Given the description of an element on the screen output the (x, y) to click on. 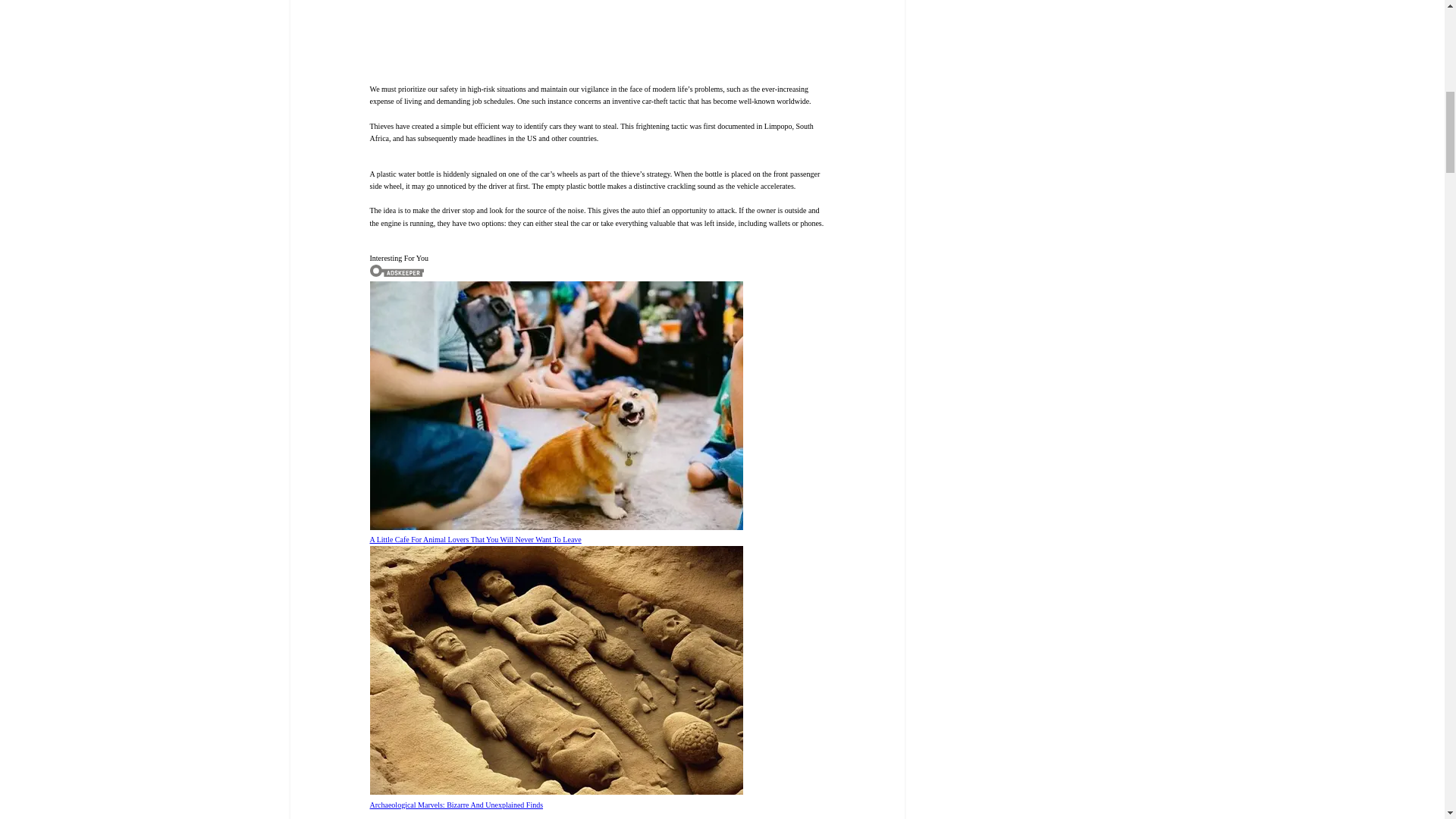
Advertisement (627, 41)
